Given the description of an element on the screen output the (x, y) to click on. 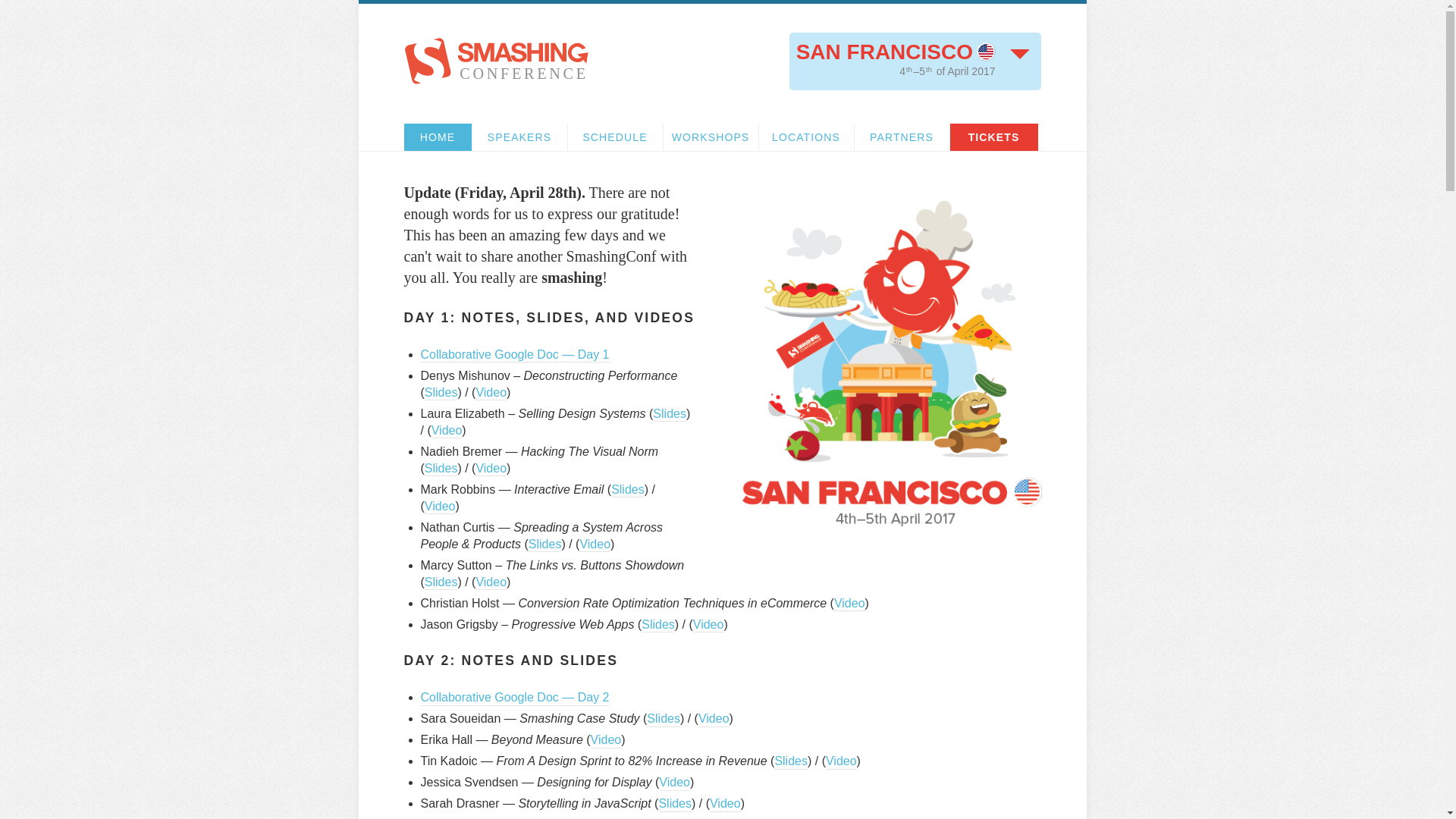
Slides (658, 625)
WORKSHOPS (709, 136)
Video (491, 468)
TICKETS (992, 136)
Slides (441, 392)
Video (491, 392)
Video (725, 803)
Slides (791, 761)
Slides (441, 582)
Slides (662, 718)
